Given the description of an element on the screen output the (x, y) to click on. 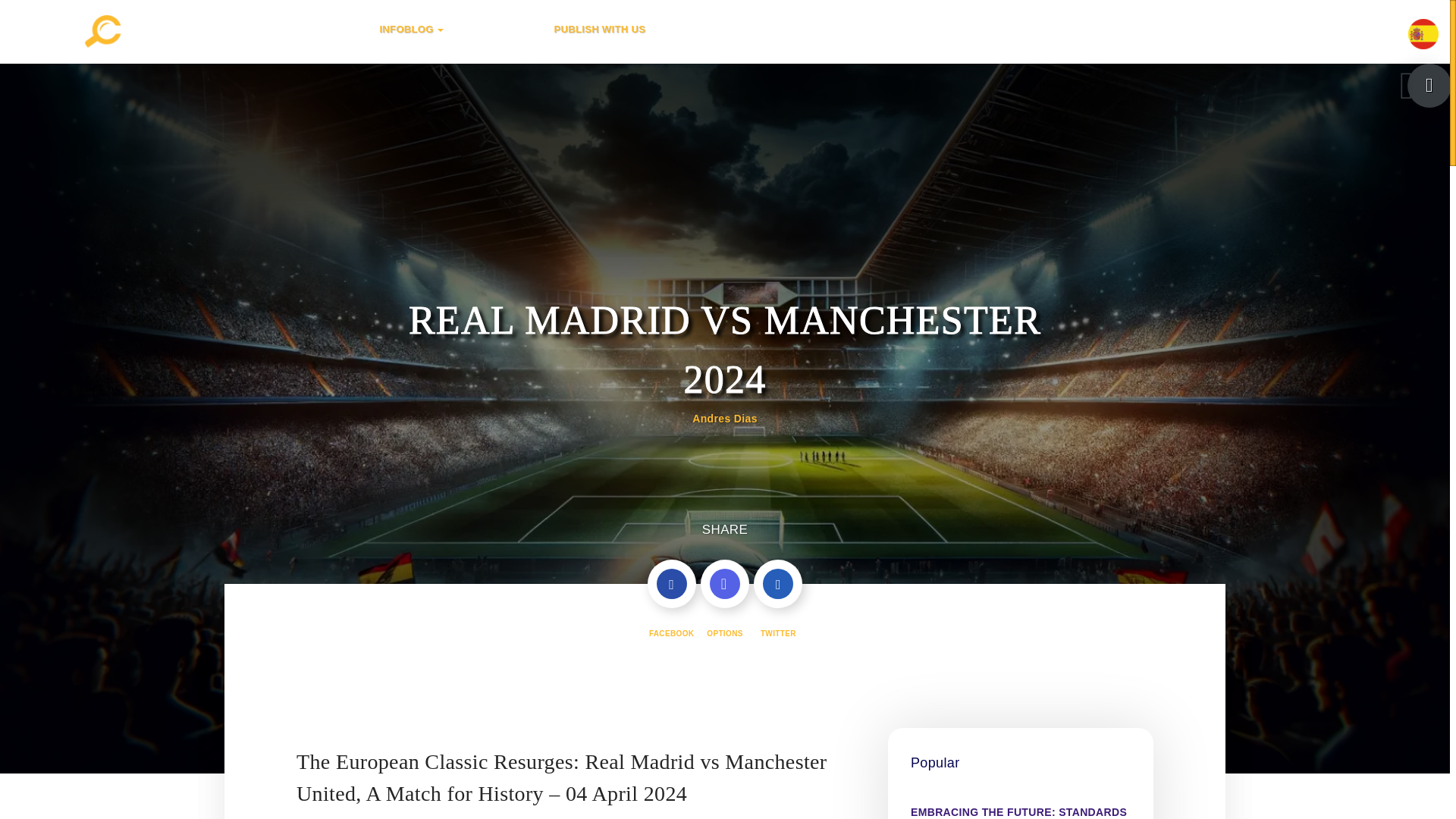
Andres Dias (725, 418)
INFOBLOG (451, 29)
PUBLISH WITH US (625, 29)
EMBRACING THE FUTURE: STANDARDS ON CIRCULAR ECONOMY (1021, 808)
